Given the description of an element on the screen output the (x, y) to click on. 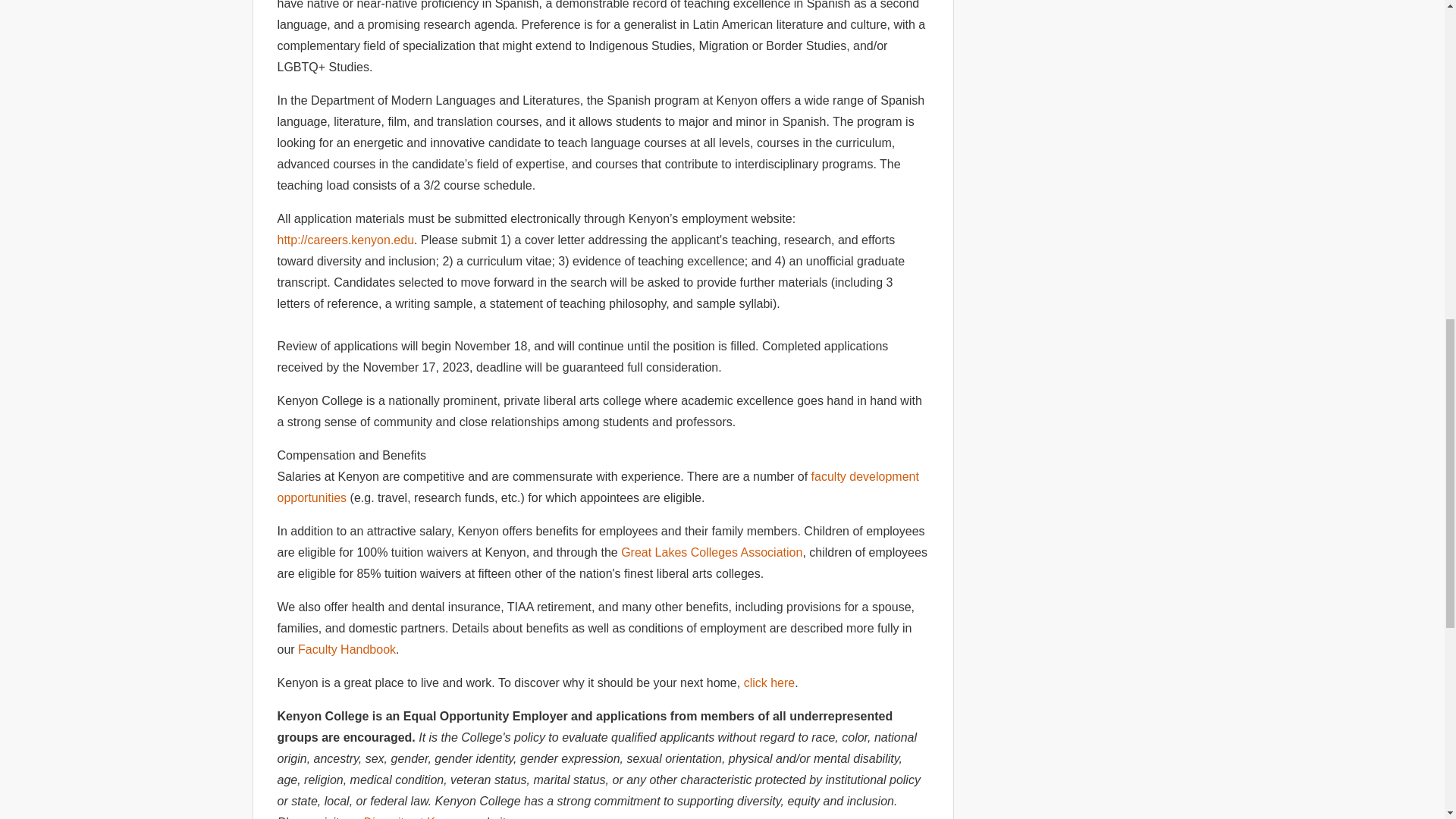
Diversity at Kenyon (414, 817)
click here (769, 682)
Great Lakes Colleges Association (711, 552)
Faculty Handbook (345, 649)
faculty development opportunities (598, 487)
